Given the description of an element on the screen output the (x, y) to click on. 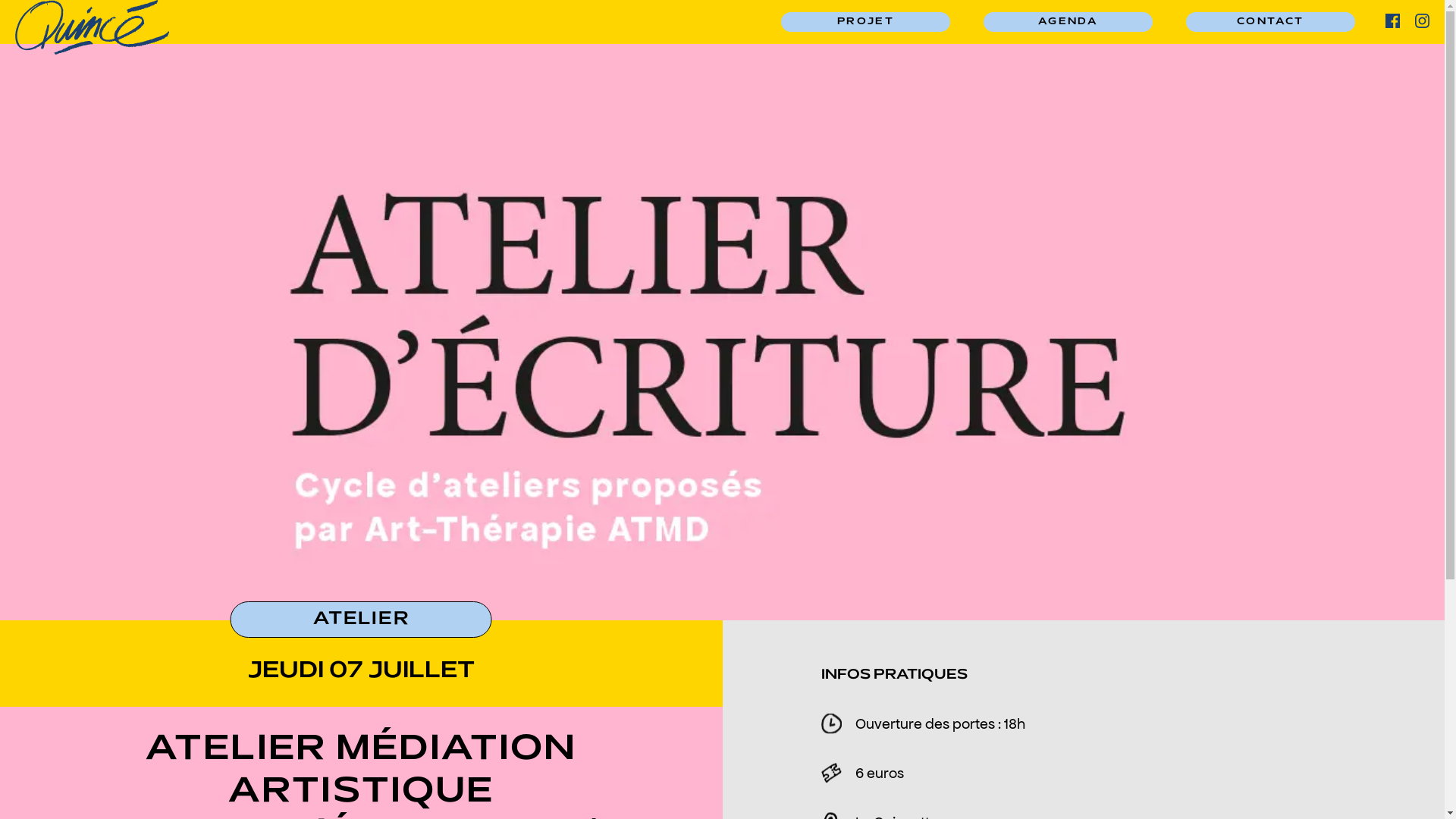
facebook Element type: text (1392, 20)
ig Element type: text (1422, 20)
CONTACT Element type: text (1270, 21)
PROJET Element type: text (865, 21)
AGENDA Element type: text (1067, 21)
